Given the description of an element on the screen output the (x, y) to click on. 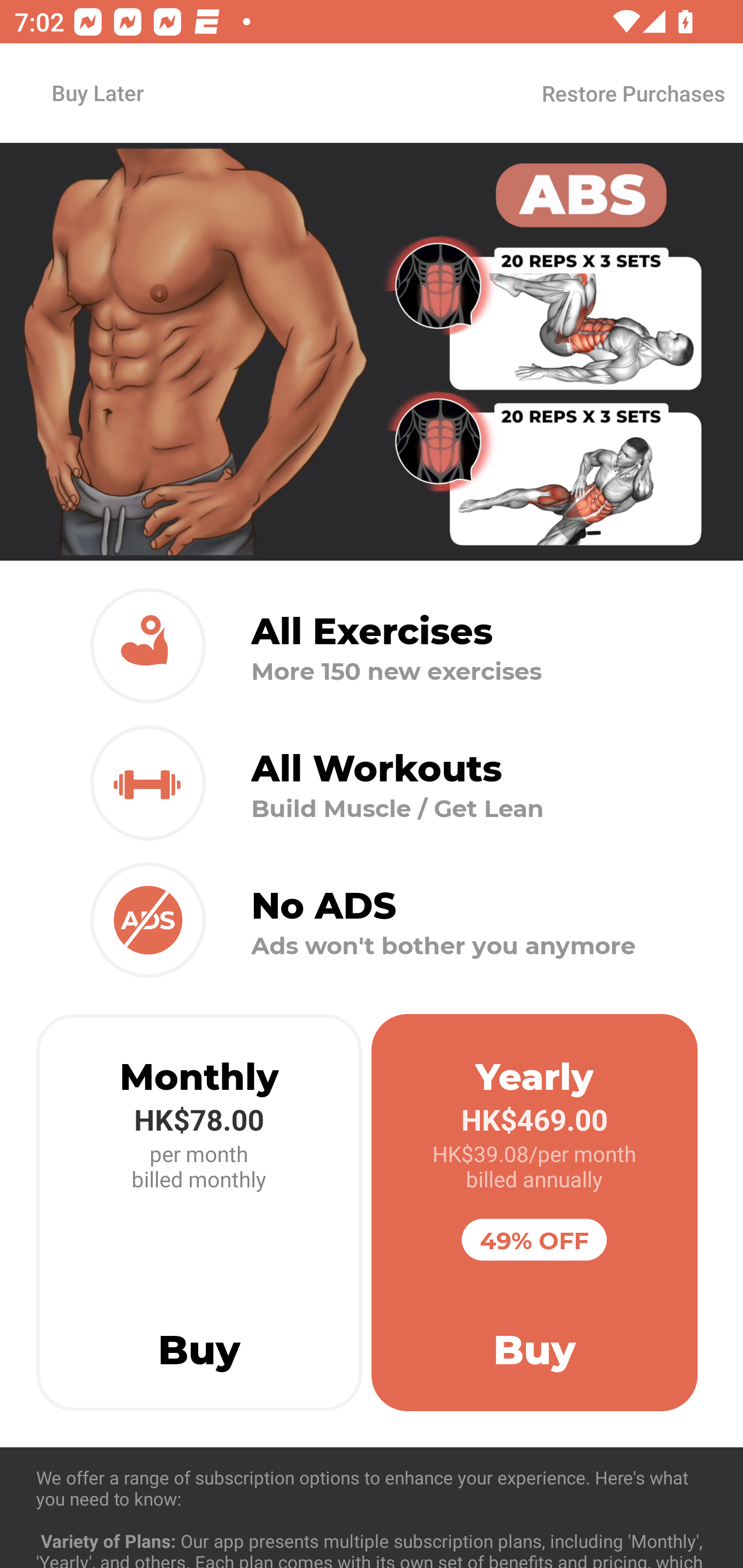
Restore Purchases (632, 92)
Buy Later (96, 92)
Monthly HK$78.00 per month
billed monthly Buy (199, 1212)
